Given the description of an element on the screen output the (x, y) to click on. 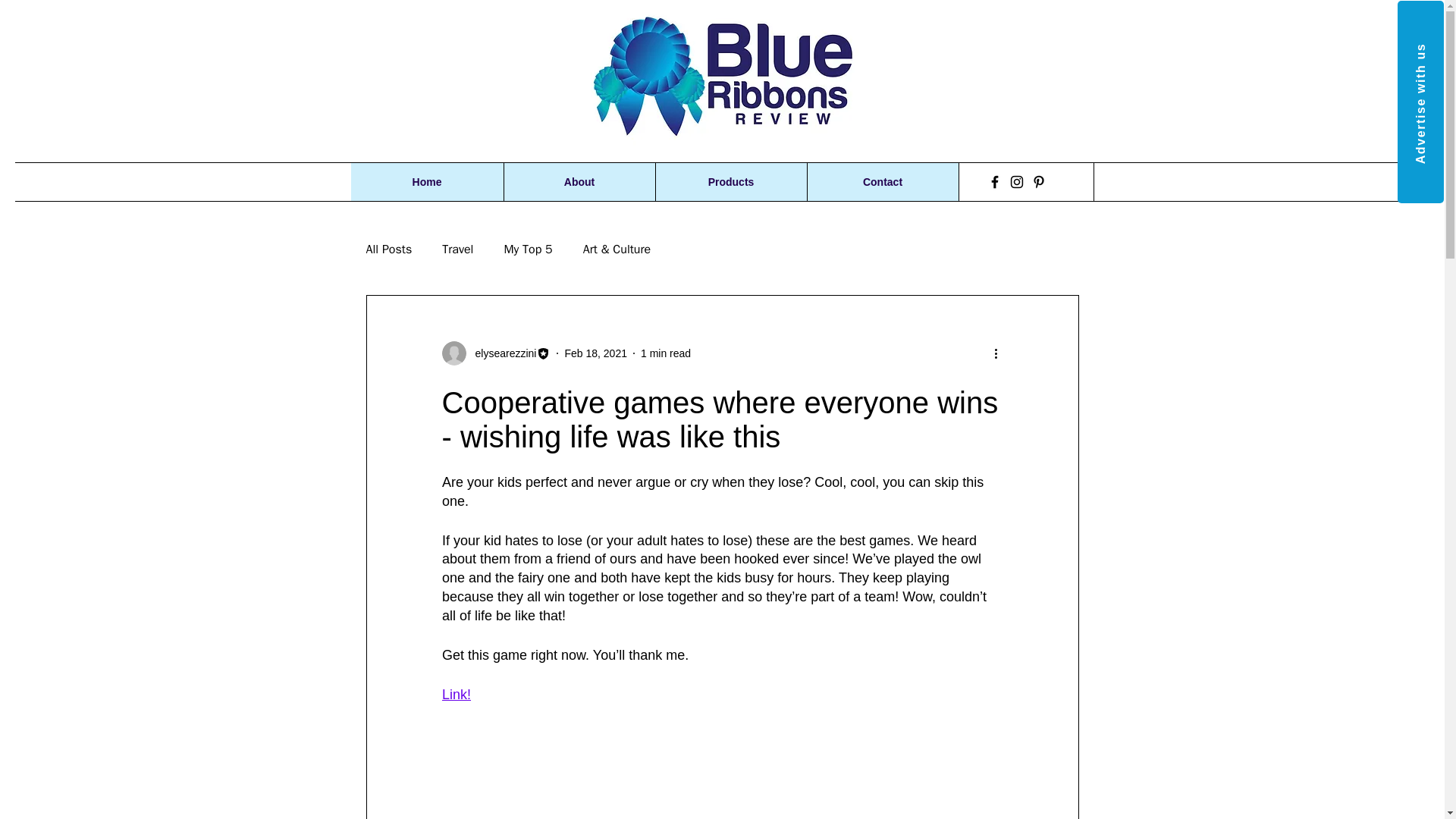
elysearezzini (500, 353)
My Top 5 (527, 248)
Travel (457, 248)
Products (730, 181)
Link! (455, 694)
All Posts (388, 248)
1 min read (665, 353)
Home (426, 181)
Feb 18, 2021 (595, 353)
About (579, 181)
